Given the description of an element on the screen output the (x, y) to click on. 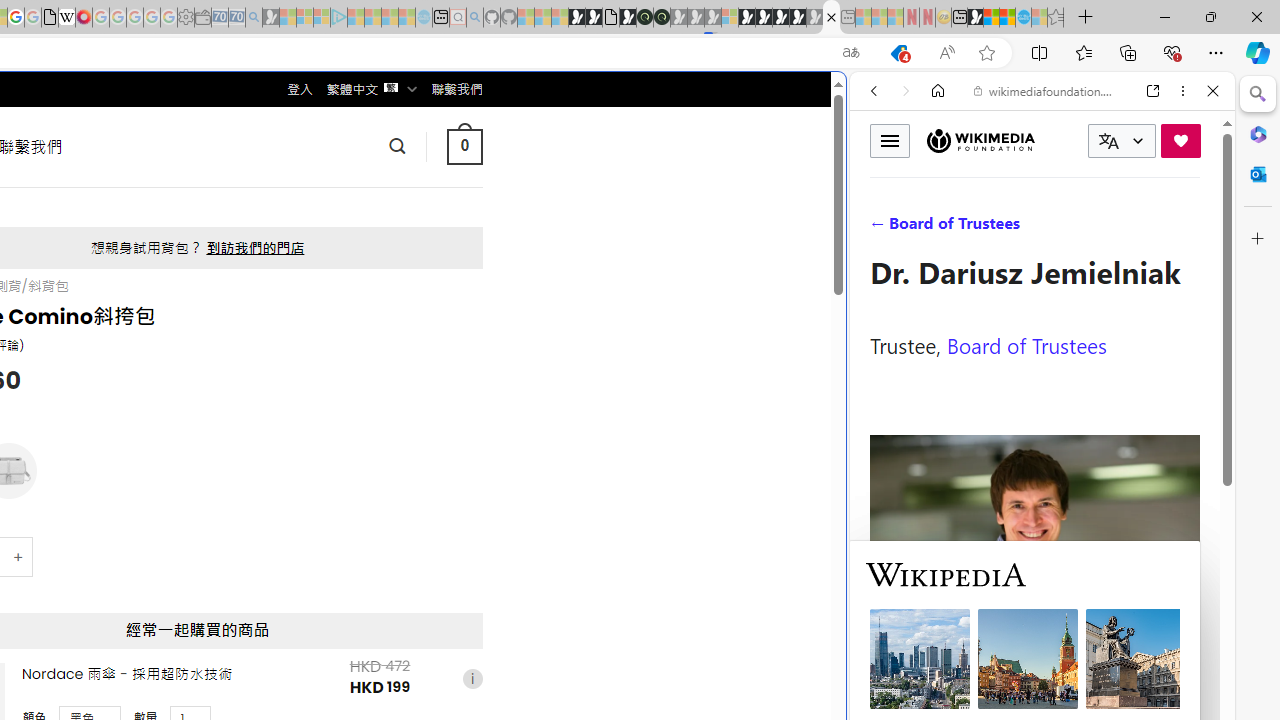
Show translate options (850, 53)
Target page - Wikipedia (66, 17)
